Given the description of an element on the screen output the (x, y) to click on. 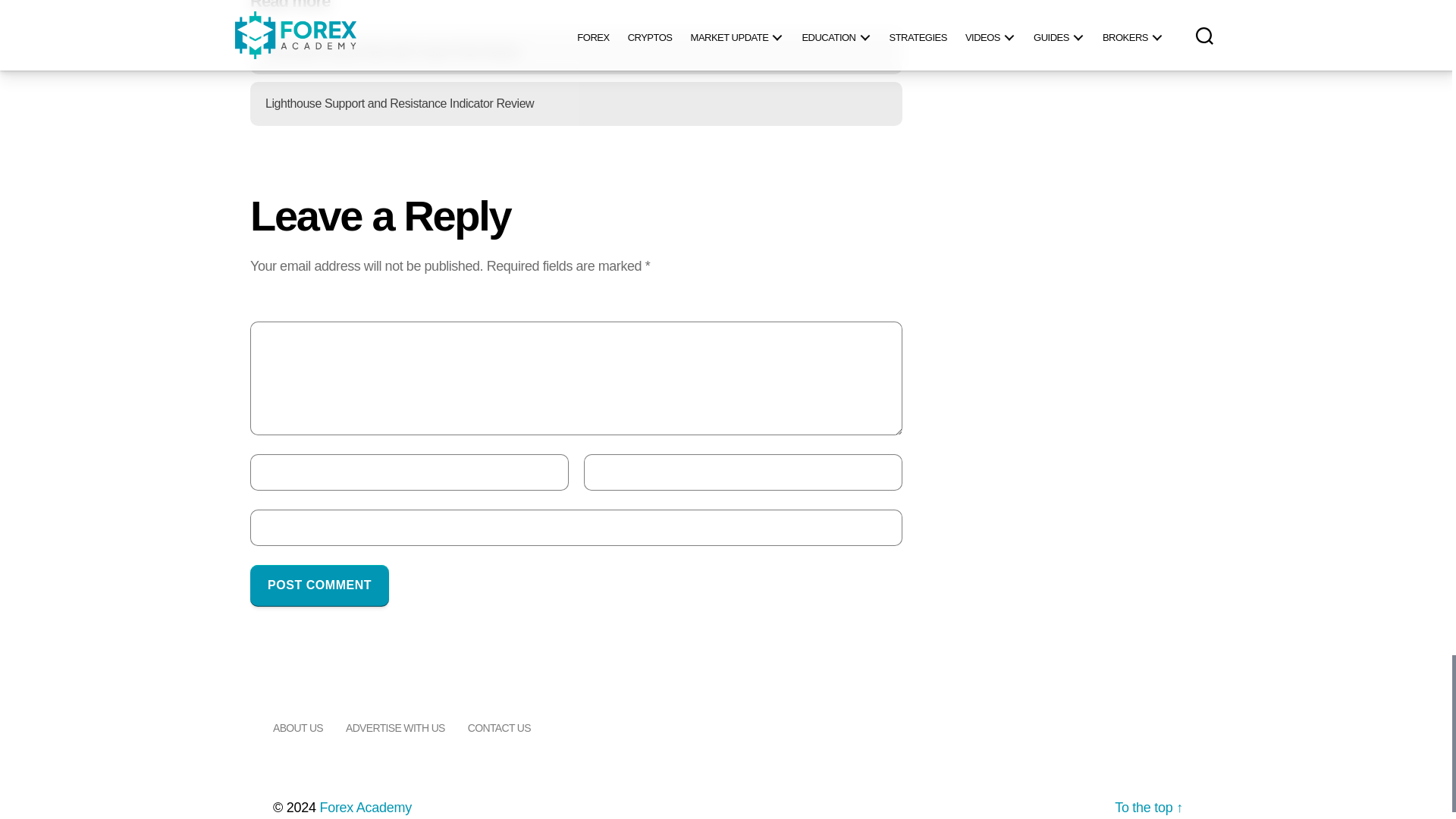
Post Comment (319, 585)
